Given the description of an element on the screen output the (x, y) to click on. 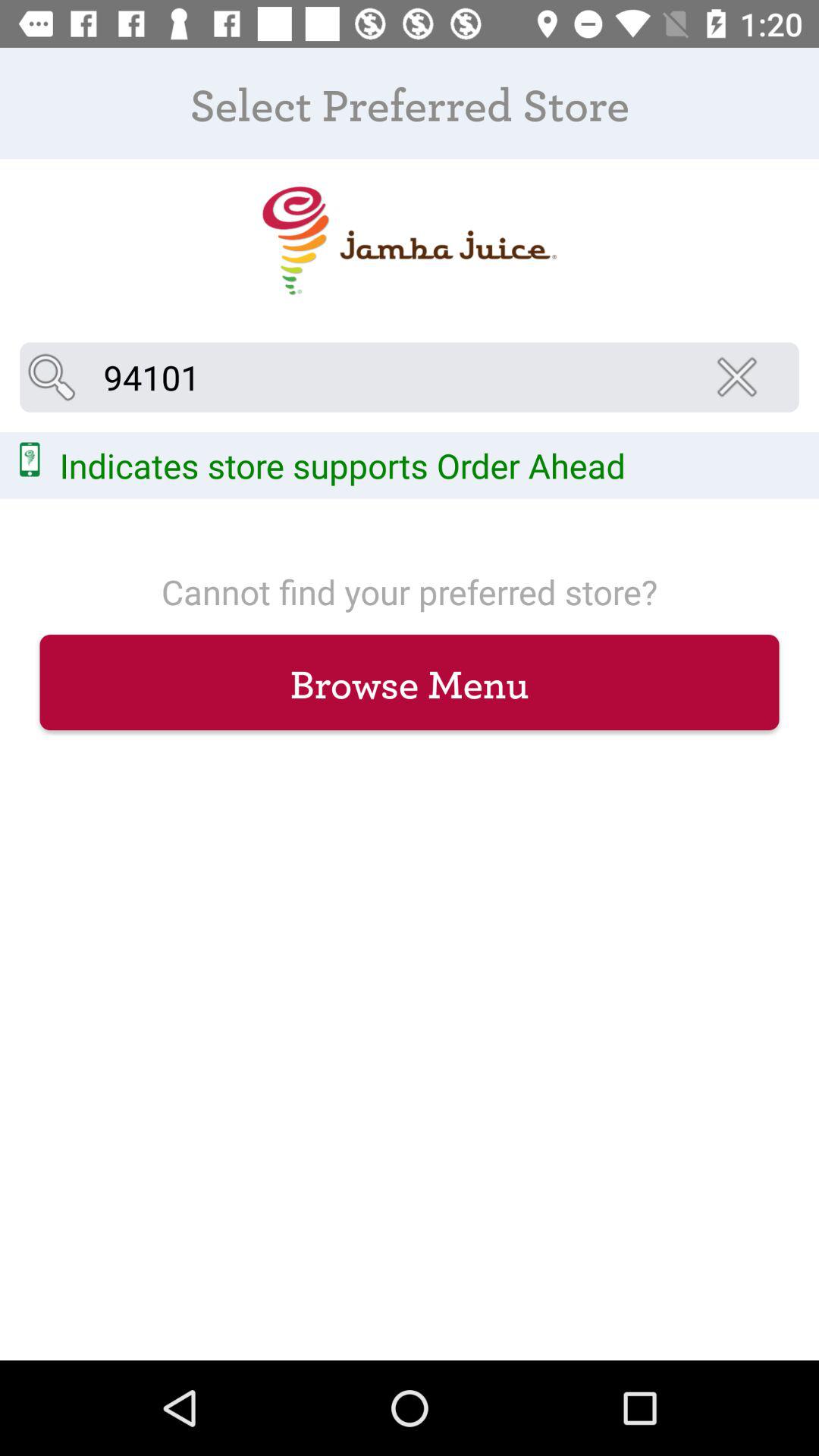
open icon below the cannot find your item (409, 682)
